Given the description of an element on the screen output the (x, y) to click on. 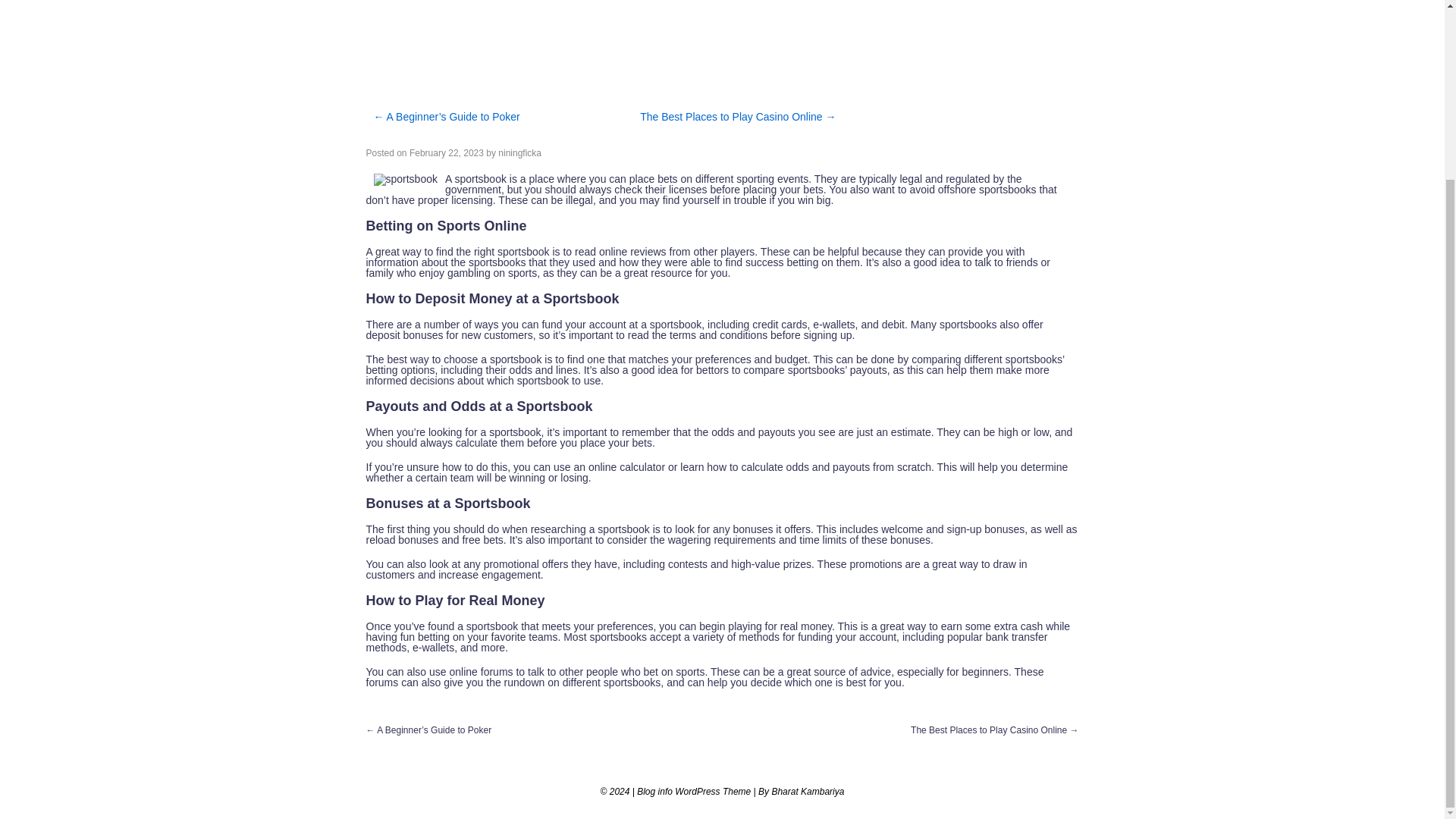
View all posts by niningficka (519, 153)
8:19 am (446, 153)
niningficka (519, 153)
February 22, 2023 (446, 153)
